Given the description of an element on the screen output the (x, y) to click on. 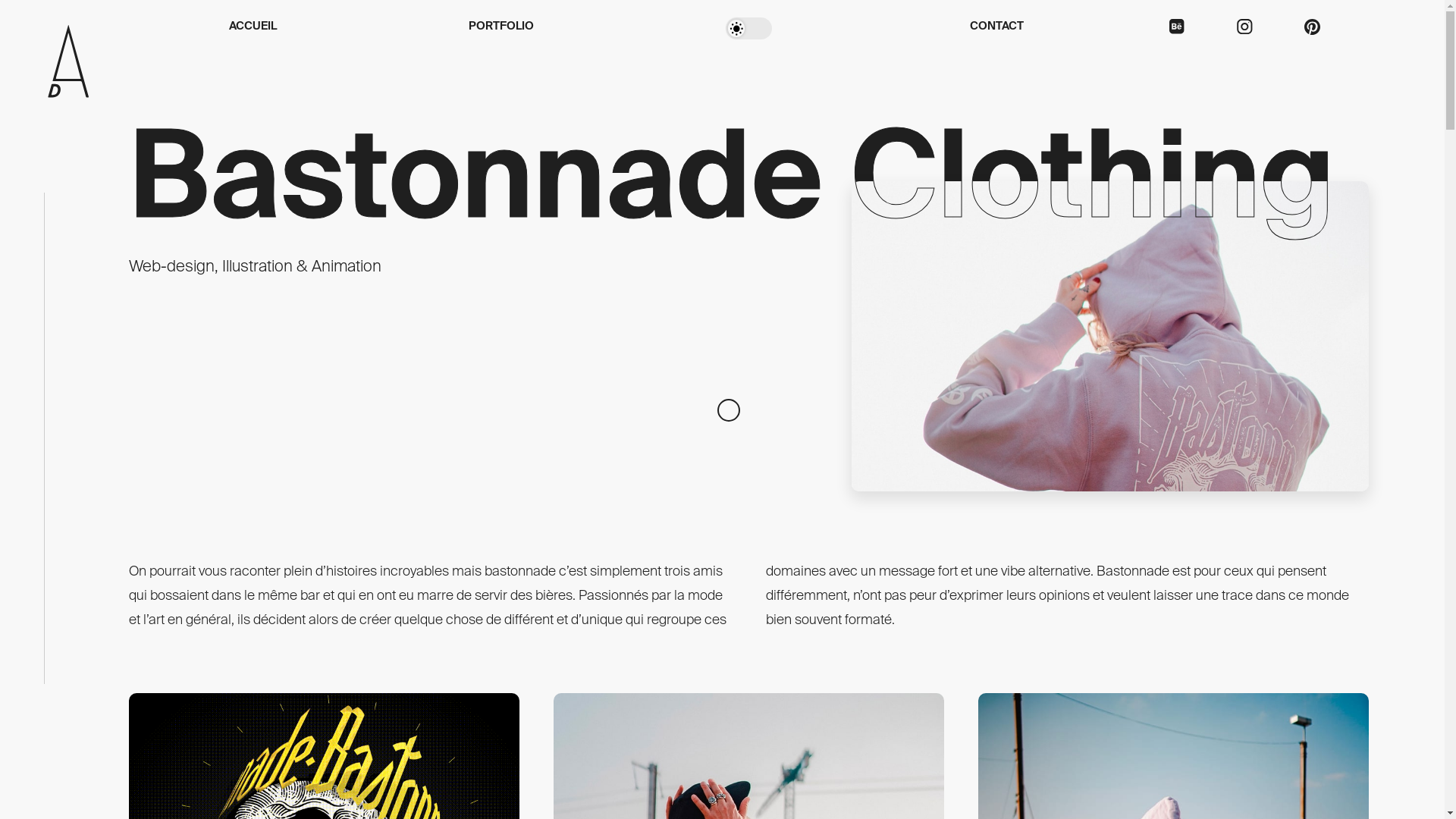
ACCUEIL Element type: text (252, 26)
ARA_DESIGN_LOGO_2 Element type: text (68, 64)
CONTACT Element type: text (996, 26)
PORTFOLIO Element type: text (501, 26)
